Given the description of an element on the screen output the (x, y) to click on. 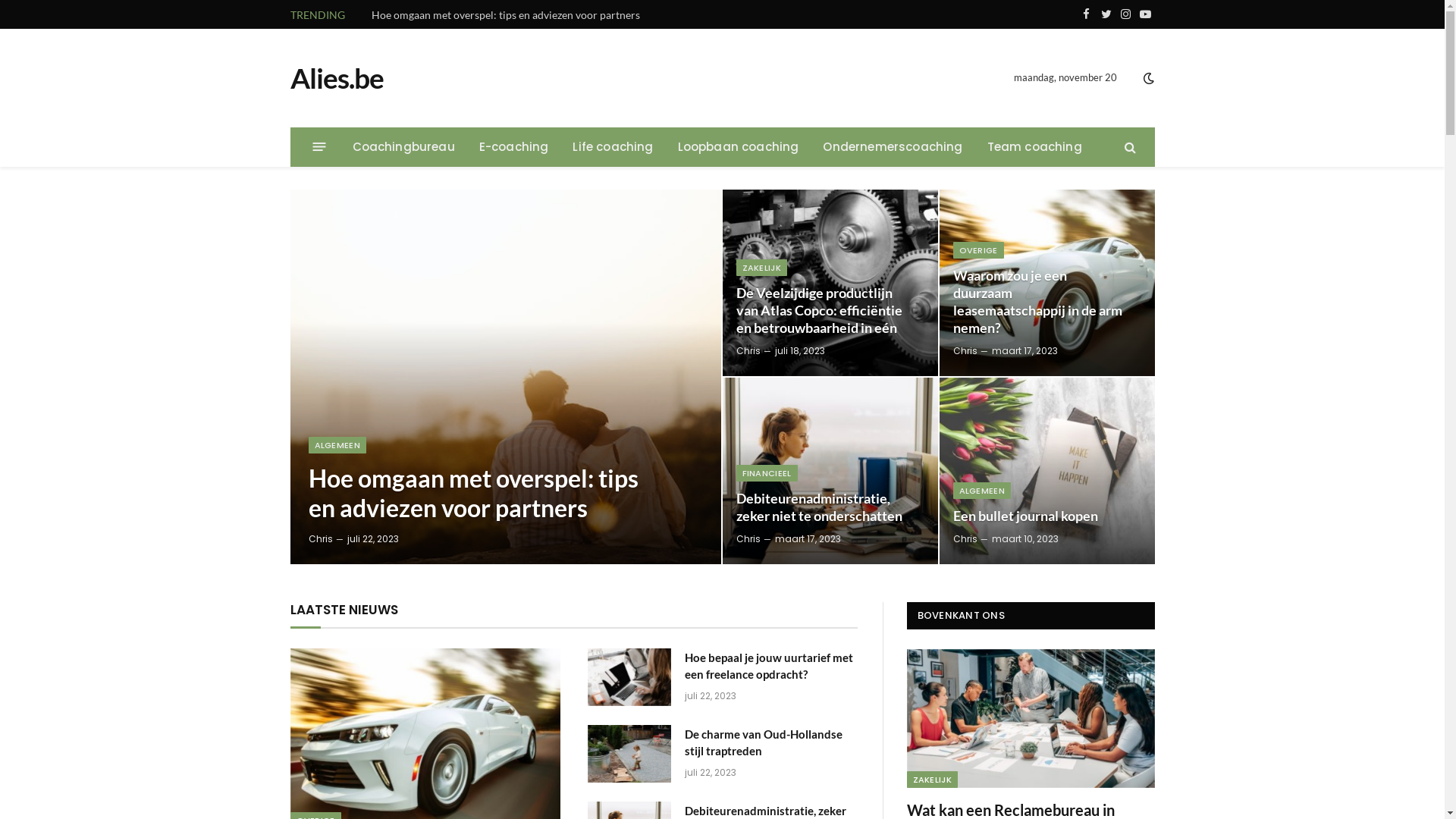
E-coaching Element type: text (514, 146)
Hoe omgaan met overspel: tips en adviezen voor partners Element type: text (484, 493)
Life coaching Element type: text (612, 146)
Chris Element type: text (964, 350)
Twitter Element type: text (1105, 14)
Wat kan een Reclamebureau in Zeeland voor mij doen? Element type: hover (1030, 718)
Chris Element type: text (747, 538)
Instagram Element type: text (1125, 14)
ALGEMEEN Element type: text (981, 490)
De charme van Oud-Hollandse stijl traptreden Element type: text (770, 742)
Hoe bepaal je jouw uurtarief met een freelance opdracht? Element type: hover (628, 677)
YouTube Element type: text (1144, 14)
OVERIGE Element type: text (977, 249)
Alies.be Element type: text (335, 77)
Facebook Element type: text (1085, 14)
Een bullet journal kopen Element type: text (1036, 515)
ZAKELIJK Element type: text (932, 779)
De charme van Oud-Hollandse stijl traptreden Element type: text (483, 14)
Ondernemerscoaching Element type: text (892, 146)
ZAKELIJK Element type: text (761, 267)
Loopbaan coaching Element type: text (738, 146)
Chris Element type: text (964, 538)
FINANCIEEL Element type: text (766, 472)
ALGEMEEN Element type: text (336, 444)
Hoe omgaan met overspel: tips en adviezen voor partners Element type: hover (504, 376)
Een bullet journal kopen Element type: hover (1046, 470)
Search Element type: hover (1127, 146)
Chris Element type: text (747, 350)
Hoe bepaal je jouw uurtarief met een freelance opdracht? Element type: text (770, 665)
Debiteurenadministratie, zeker niet te onderschatten Element type: hover (829, 470)
De charme van Oud-Hollandse stijl traptreden Element type: hover (628, 753)
Chris Element type: text (319, 538)
Team coaching Element type: text (1034, 146)
Coachingbureau Element type: text (402, 146)
Switch to Dark Design - easier on eyes. Element type: hover (1146, 78)
Debiteurenadministratie, zeker niet te onderschatten Element type: text (819, 506)
